Given the description of an element on the screen output the (x, y) to click on. 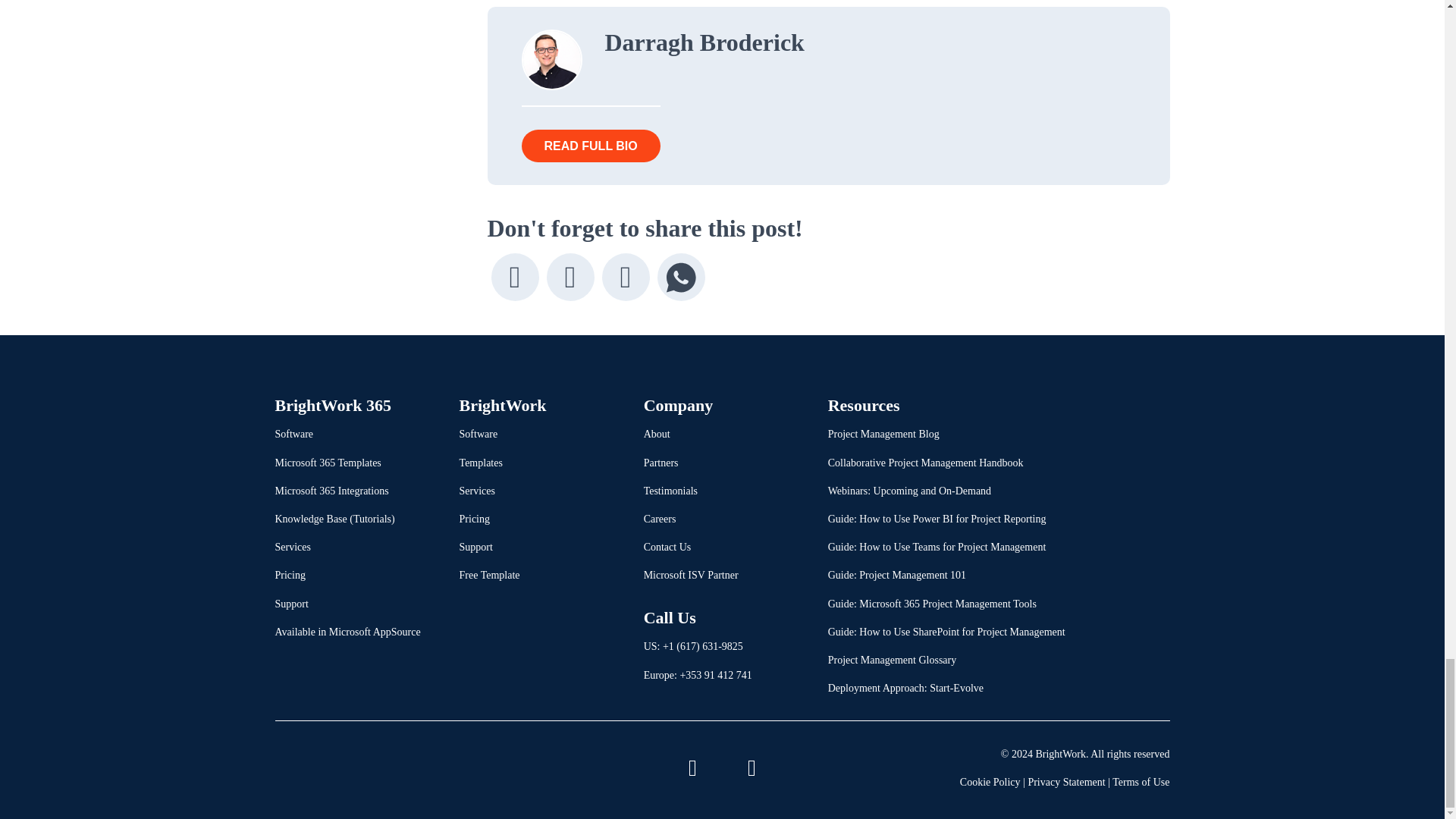
Software (294, 433)
Microsoft 365 Templates (327, 462)
Microsoft-AppSource (339, 765)
Follow on Youtube (751, 768)
Microsoft 365 Integrations (331, 490)
Pricing (289, 574)
READ FULL BIO (591, 145)
Follow on LinkedIn (691, 768)
Services (292, 546)
